Given the description of an element on the screen output the (x, y) to click on. 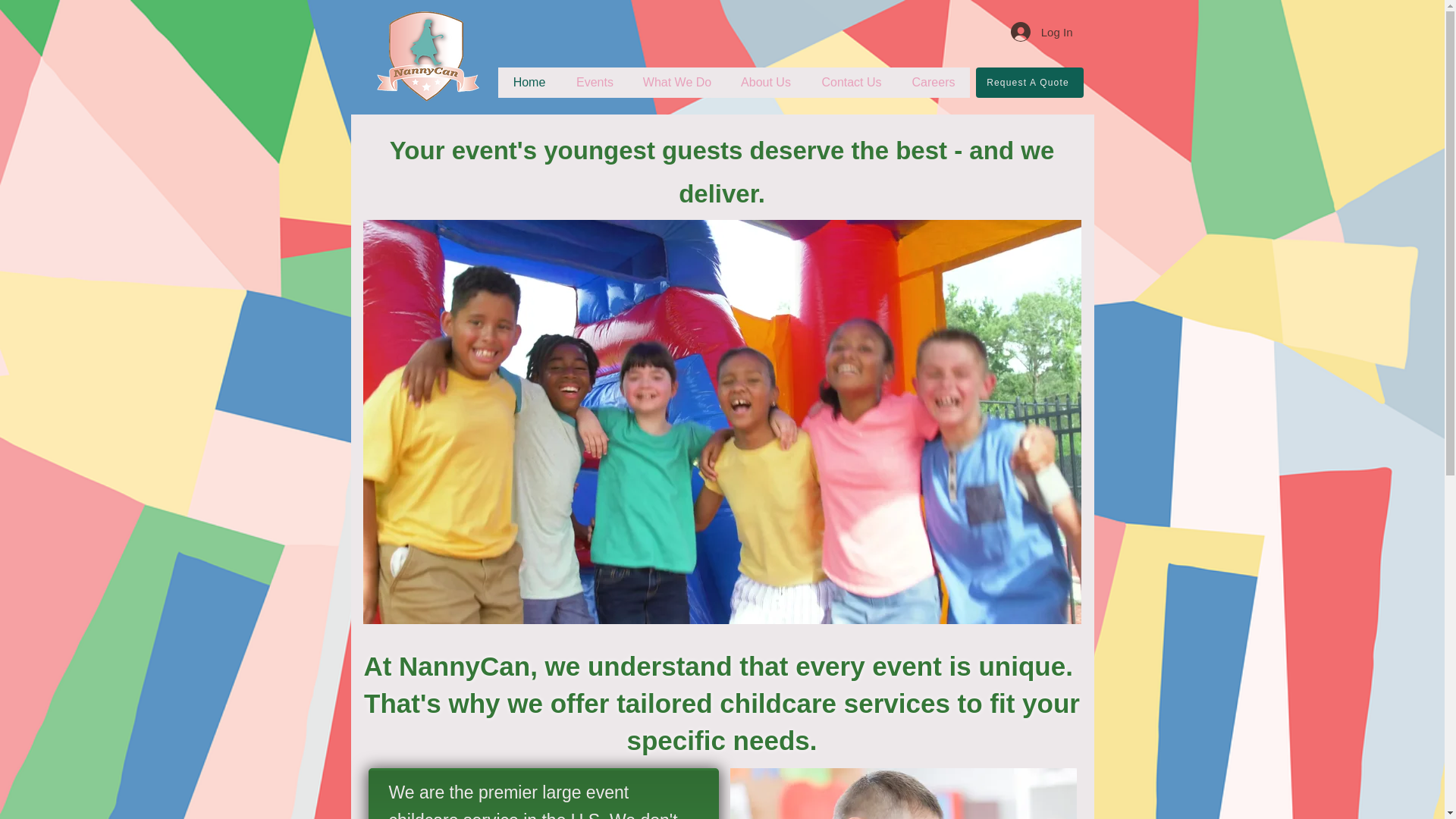
Request A Quote (1029, 82)
Careers (932, 82)
What We Do (676, 82)
Events (594, 82)
Boy Playing with Blocks (902, 793)
Contact Us (850, 82)
Log In (1041, 31)
Home (528, 82)
About Us (765, 82)
